Given the description of an element on the screen output the (x, y) to click on. 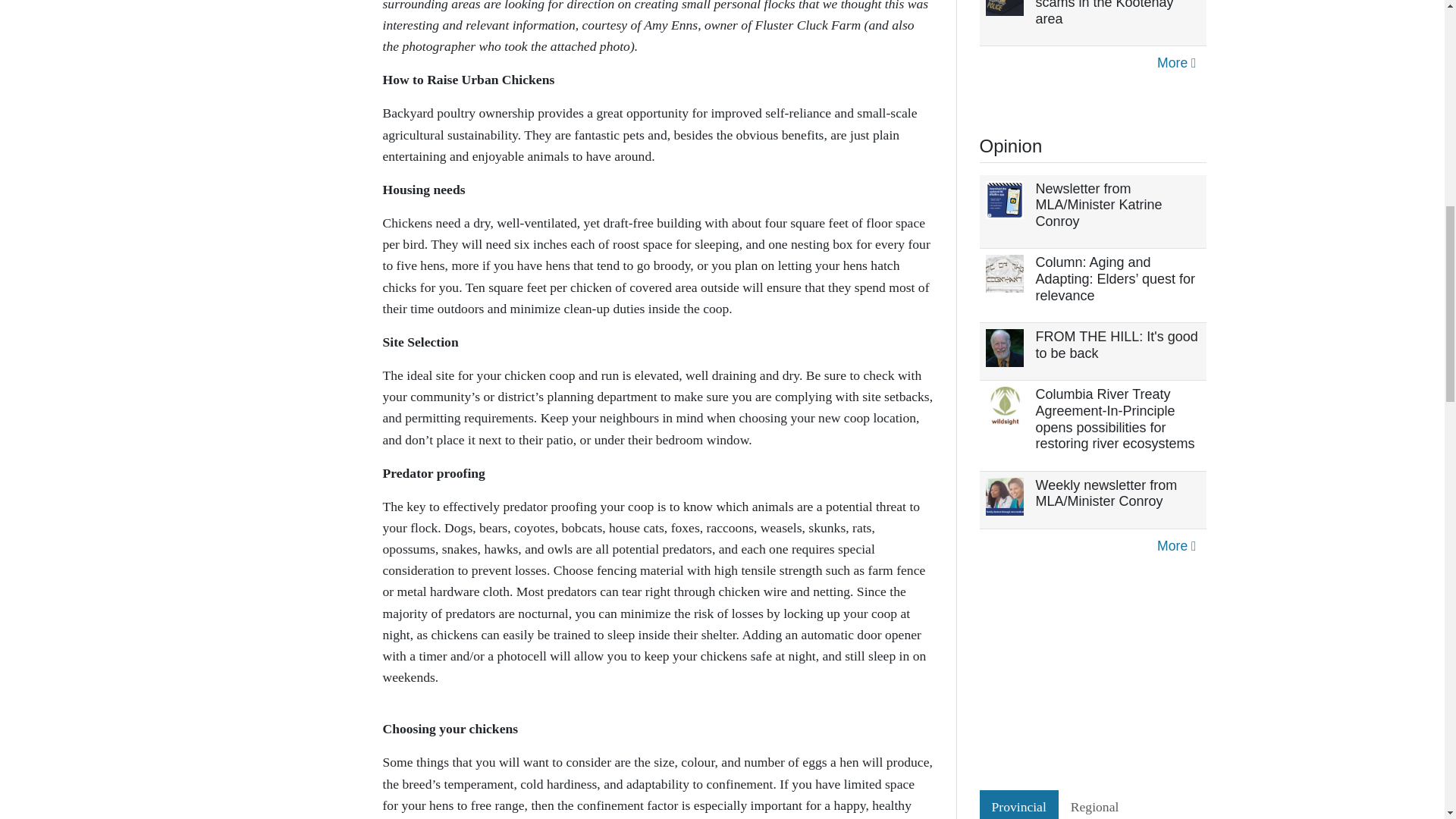
More (1176, 63)
Beware of ongoing phone scams in the Kootenay area (1113, 12)
3rd party ad content (1093, 677)
FROM THE HILL: It's good to be back (1116, 345)
